Given the description of an element on the screen output the (x, y) to click on. 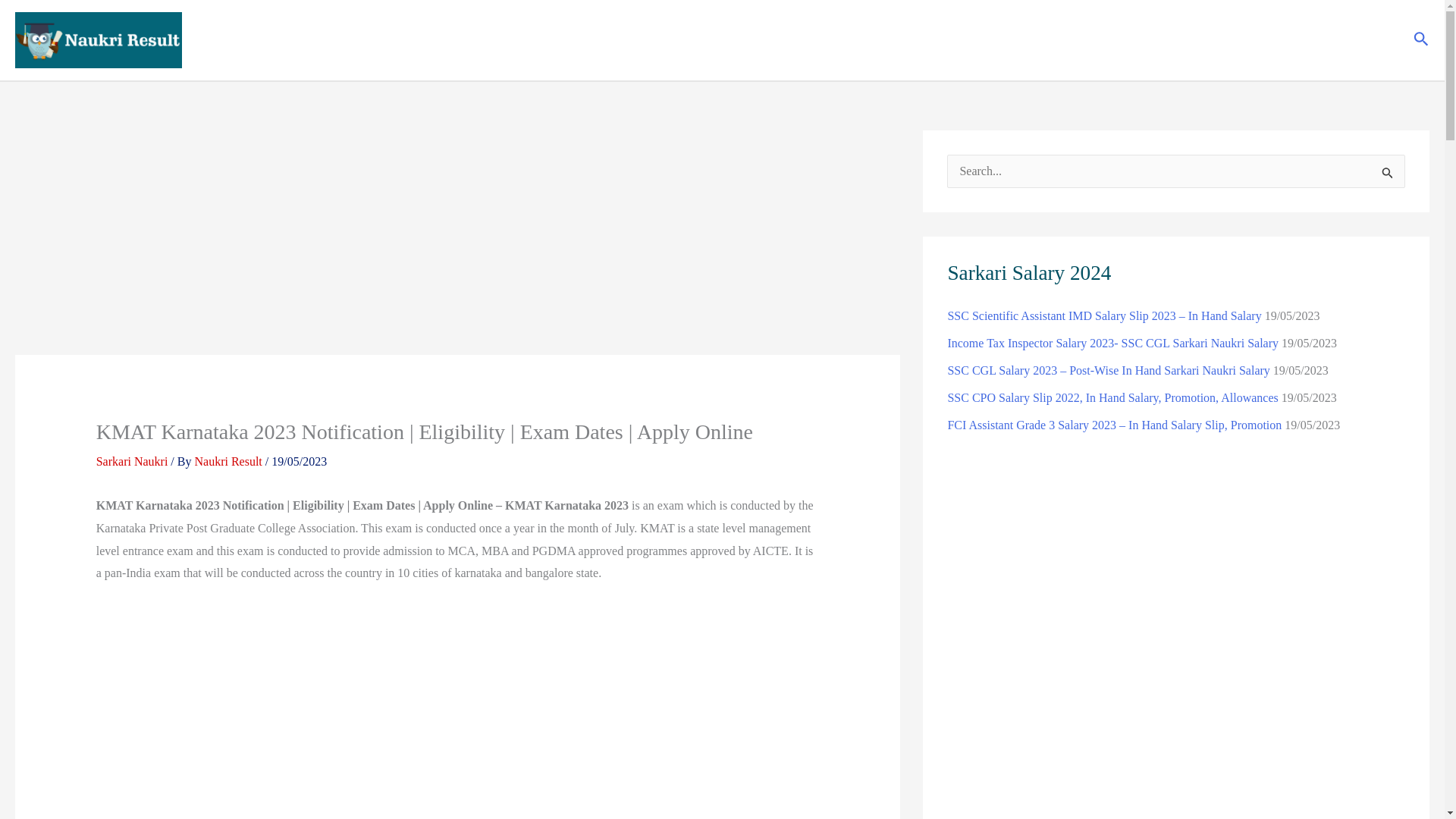
Answer Key (1014, 39)
Online Form (1107, 39)
Admit Card (930, 39)
Date Sheet (1278, 39)
Sarkari Naukri (786, 39)
Sarkari Naukri (132, 461)
Naukri Result (228, 461)
Syllabus (1358, 39)
Scholarship (1199, 39)
